Given the description of an element on the screen output the (x, y) to click on. 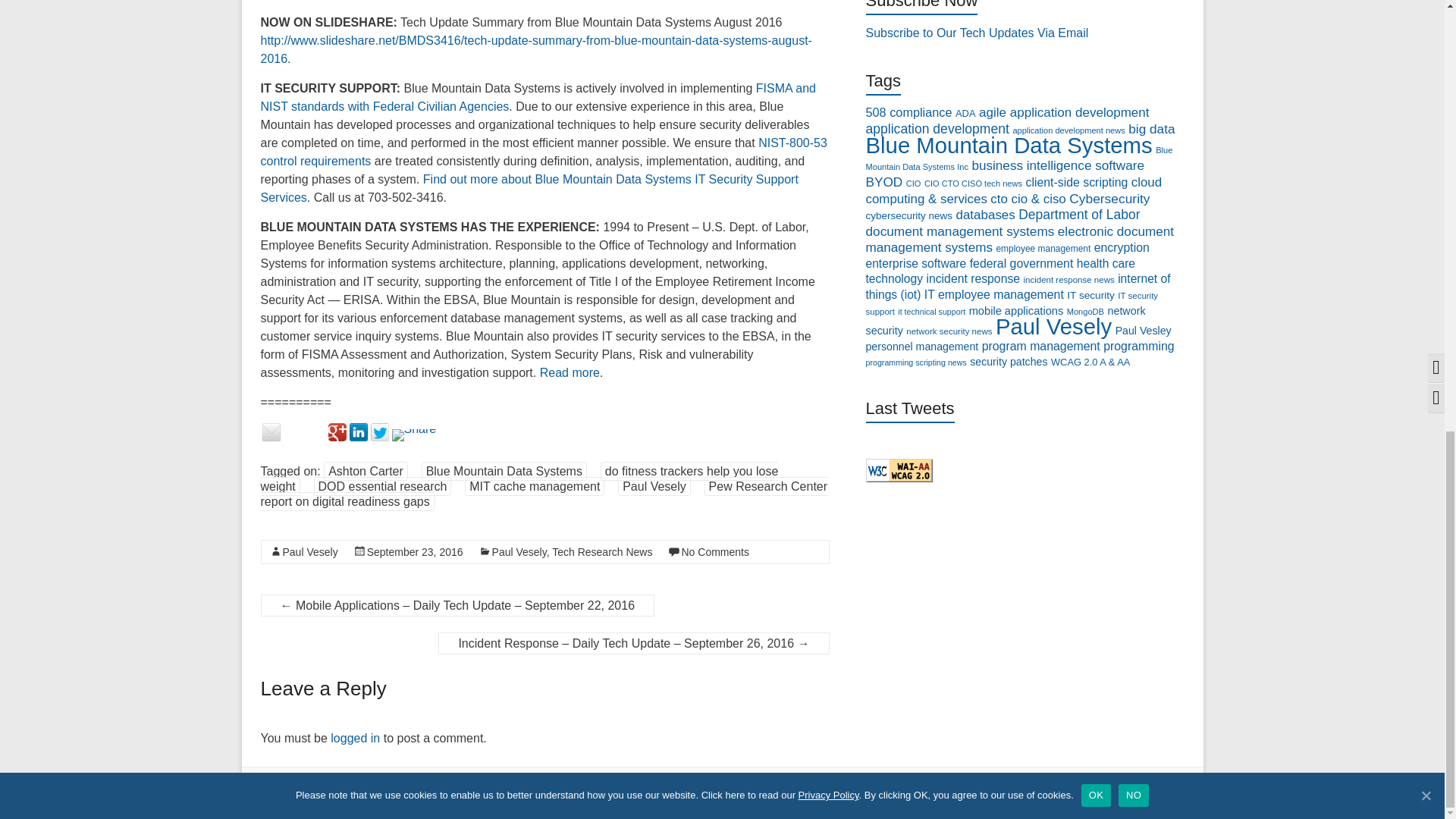
10:59 am (414, 551)
